Given the description of an element on the screen output the (x, y) to click on. 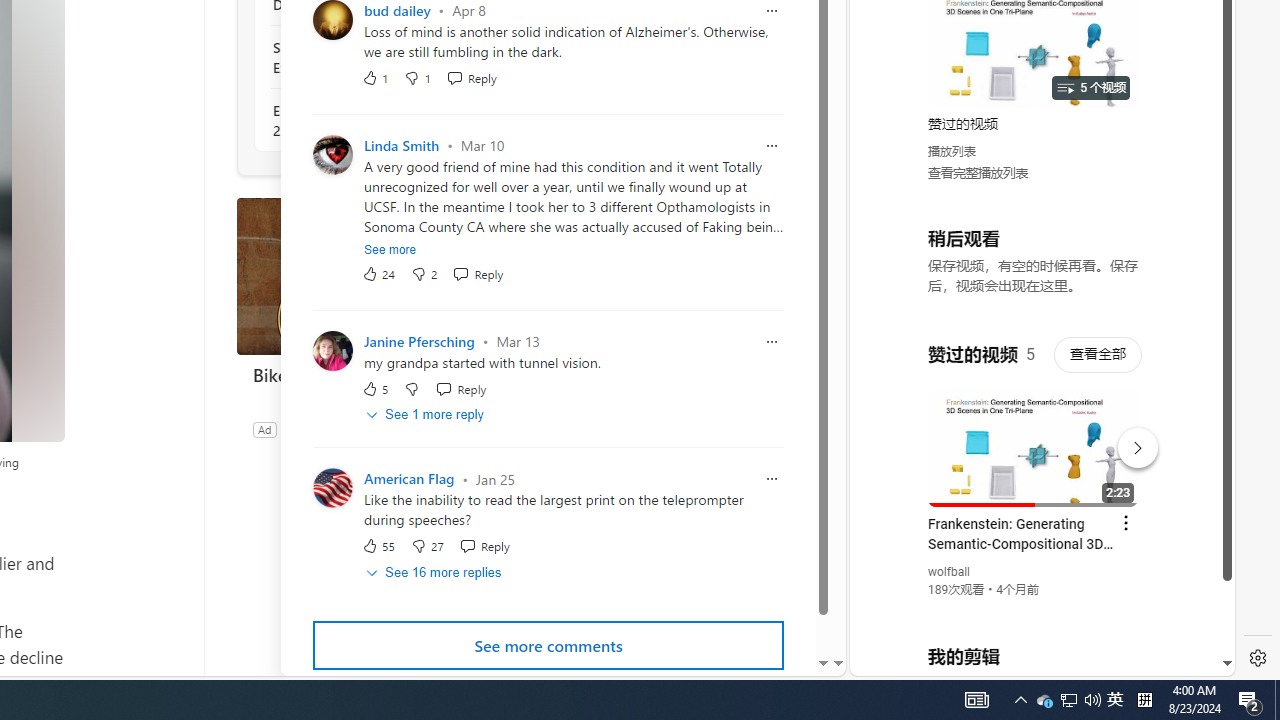
Bike Gurus (386, 276)
Bike Gurus (386, 374)
Click to scroll right (1196, 83)
5 Like (375, 388)
American Flag (408, 479)
See more comments (548, 645)
YouTube (1034, 432)
1 Like (375, 77)
US[ju] (917, 660)
Profile Picture (333, 488)
Reply Reply Comment (484, 546)
